Given the description of an element on the screen output the (x, y) to click on. 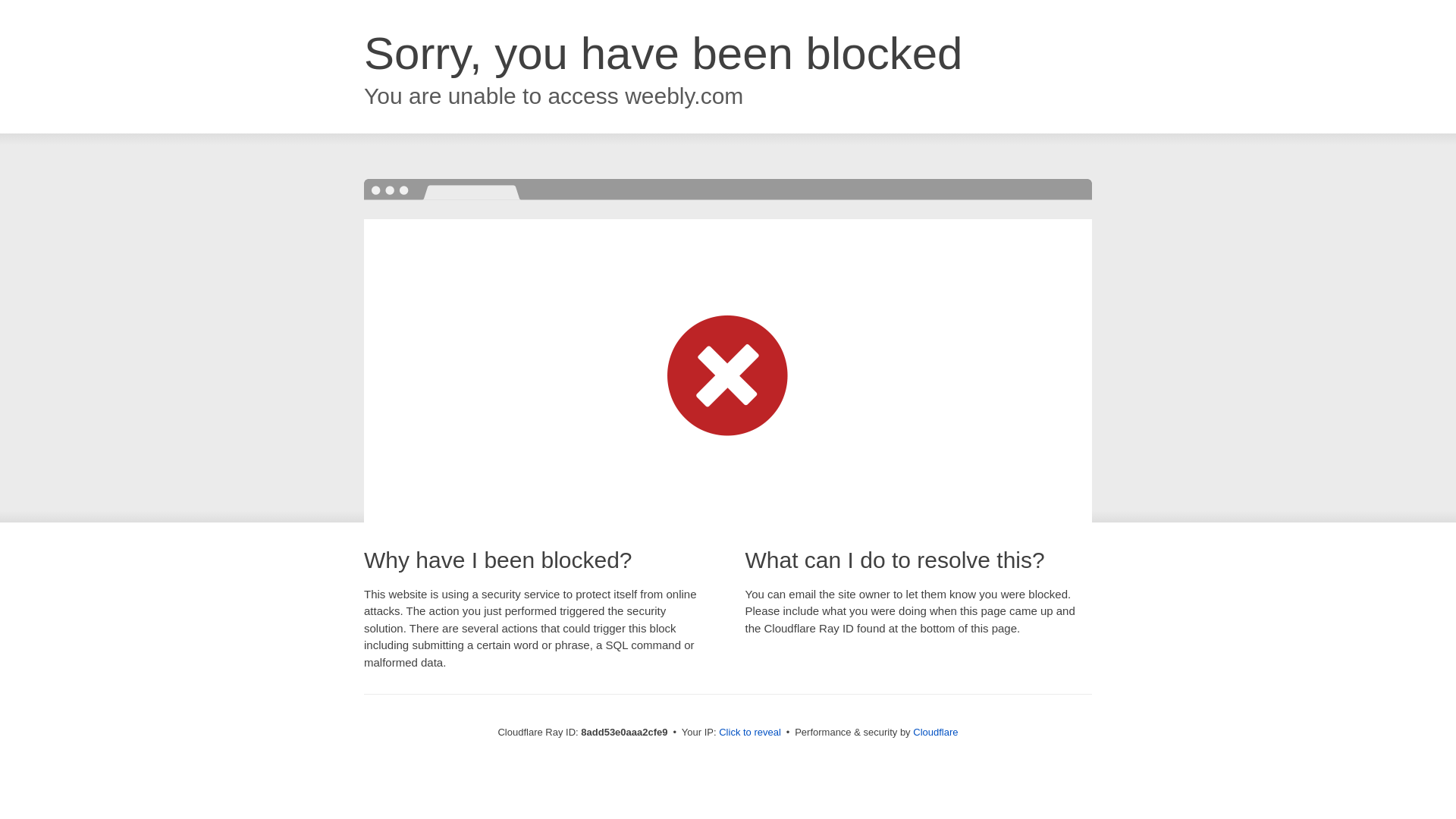
Click to reveal (749, 732)
Cloudflare (935, 731)
